Given the description of an element on the screen output the (x, y) to click on. 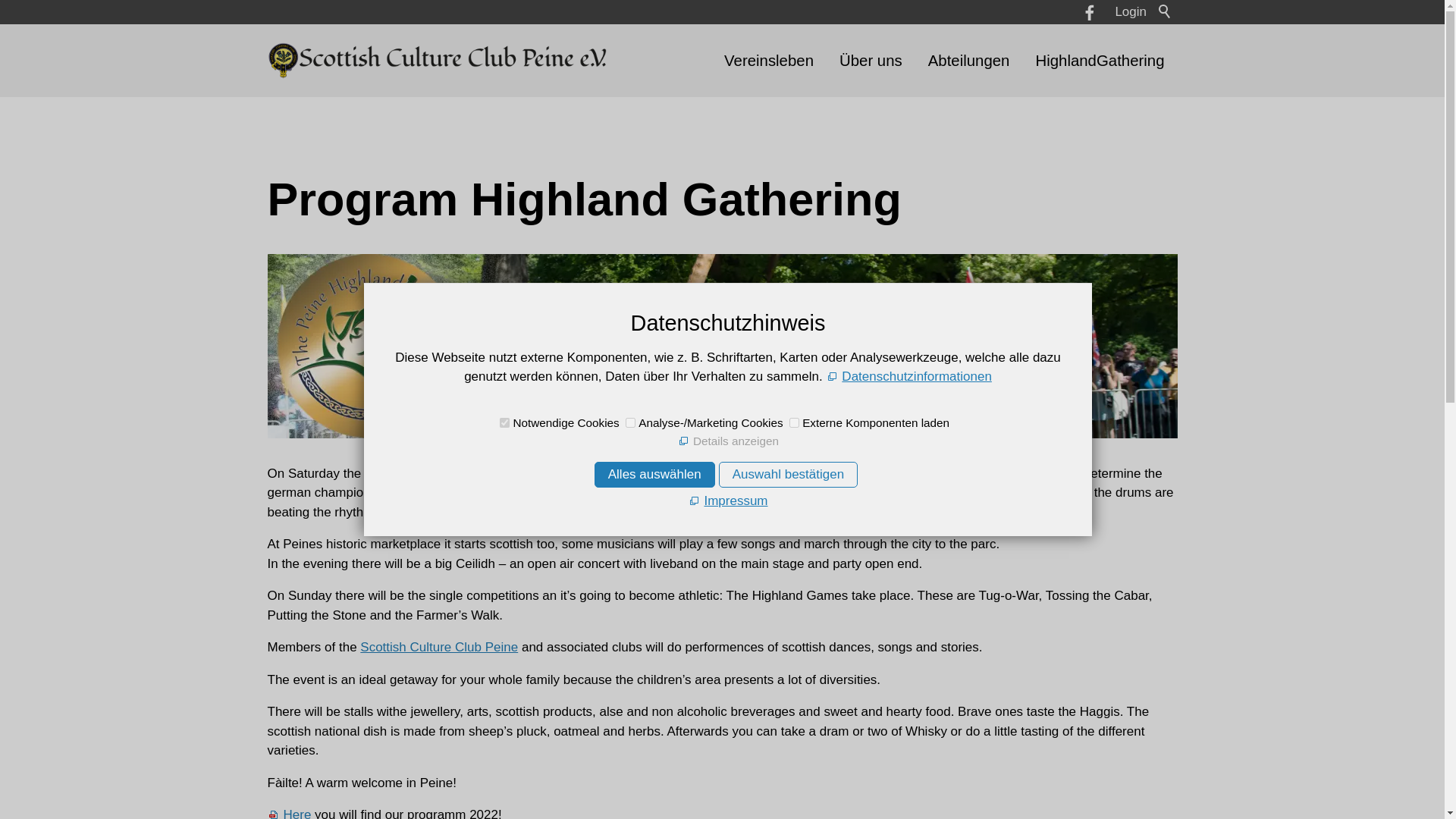
Abteilungen (969, 60)
Flyer Englisch (288, 813)
Login (1131, 11)
1 (504, 422)
Here (288, 813)
HighlandGathering (1099, 60)
1 (794, 422)
Vereinsleben (769, 60)
Zur Startseite (437, 60)
